Given the description of an element on the screen output the (x, y) to click on. 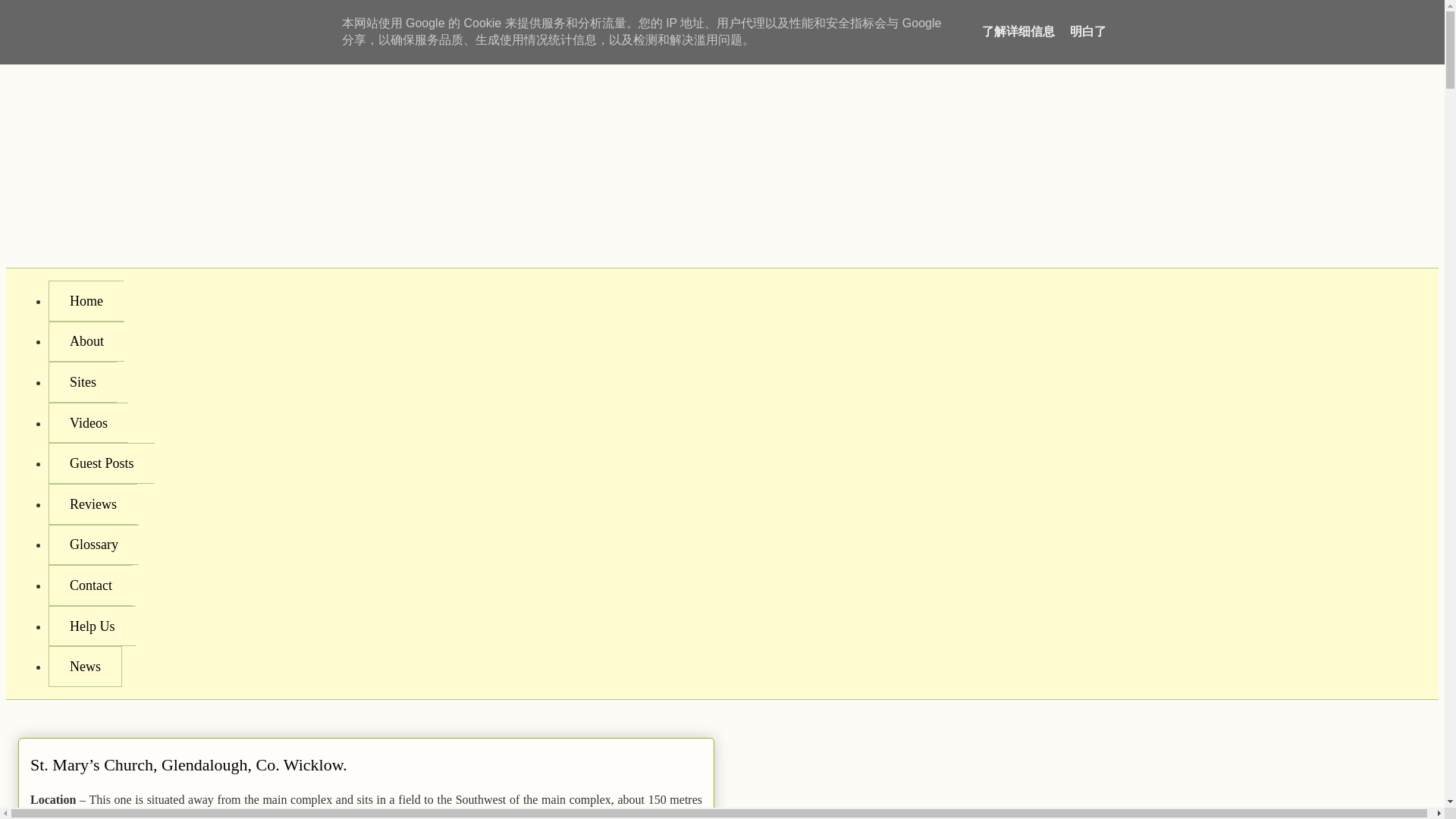
News (85, 666)
Glossary (93, 544)
Videos (88, 422)
About (85, 341)
Sites (82, 381)
Help Us (91, 626)
Guest Posts (101, 463)
Contact (90, 585)
Reviews (92, 504)
Home (85, 300)
